Given the description of an element on the screen output the (x, y) to click on. 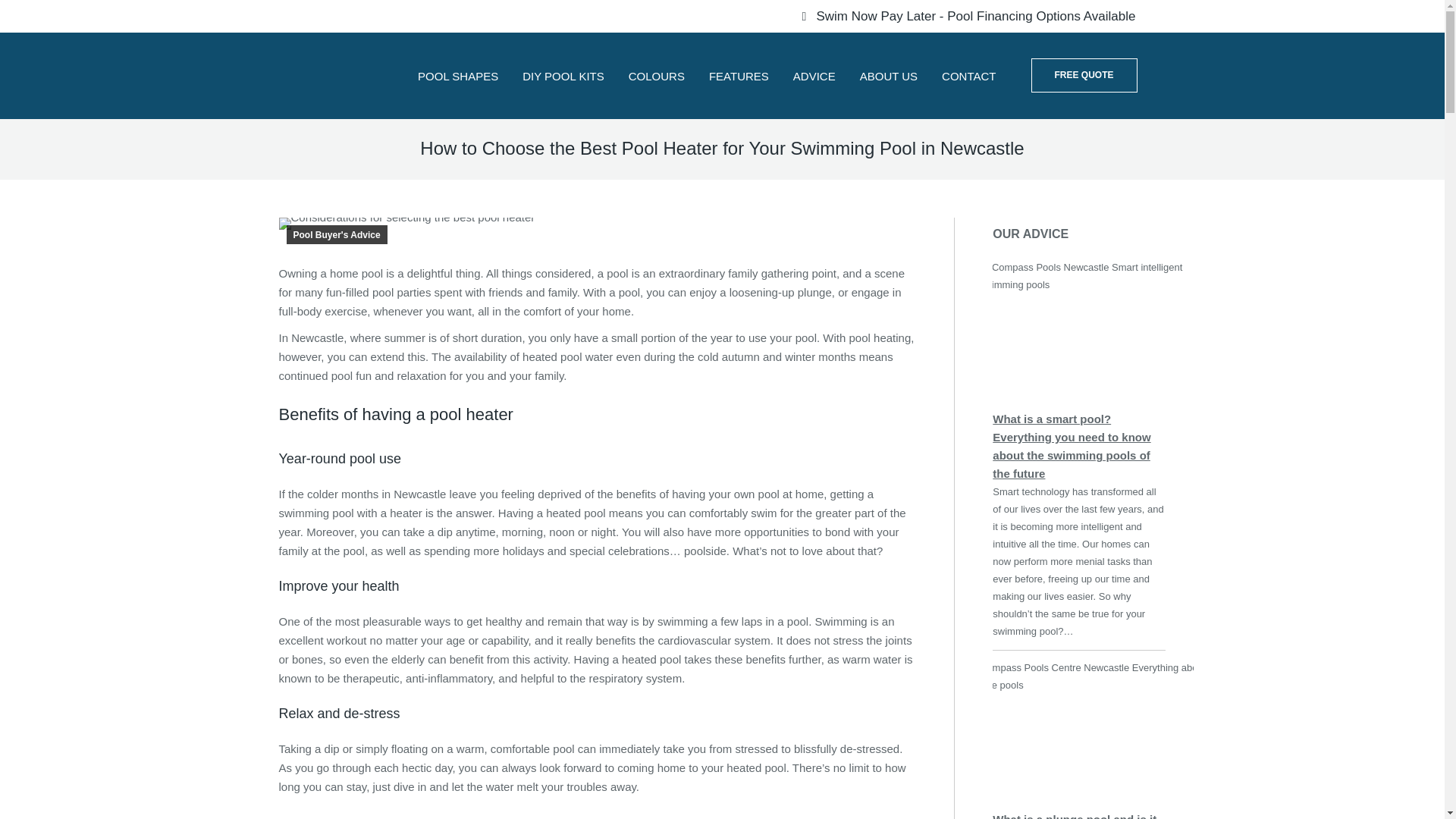
Swim Now Pay Later - Pool Financing Options Available (965, 16)
What is a plunge pool and is it the right pool for you? (1074, 816)
Considerations for selecting the best pool heater (407, 223)
POOL SHAPES (458, 75)
FREE QUOTE (1083, 75)
CONTACT (968, 75)
COLOURS (656, 75)
ABOUT US (888, 75)
DIY POOL KITS (563, 75)
